Given the description of an element on the screen output the (x, y) to click on. 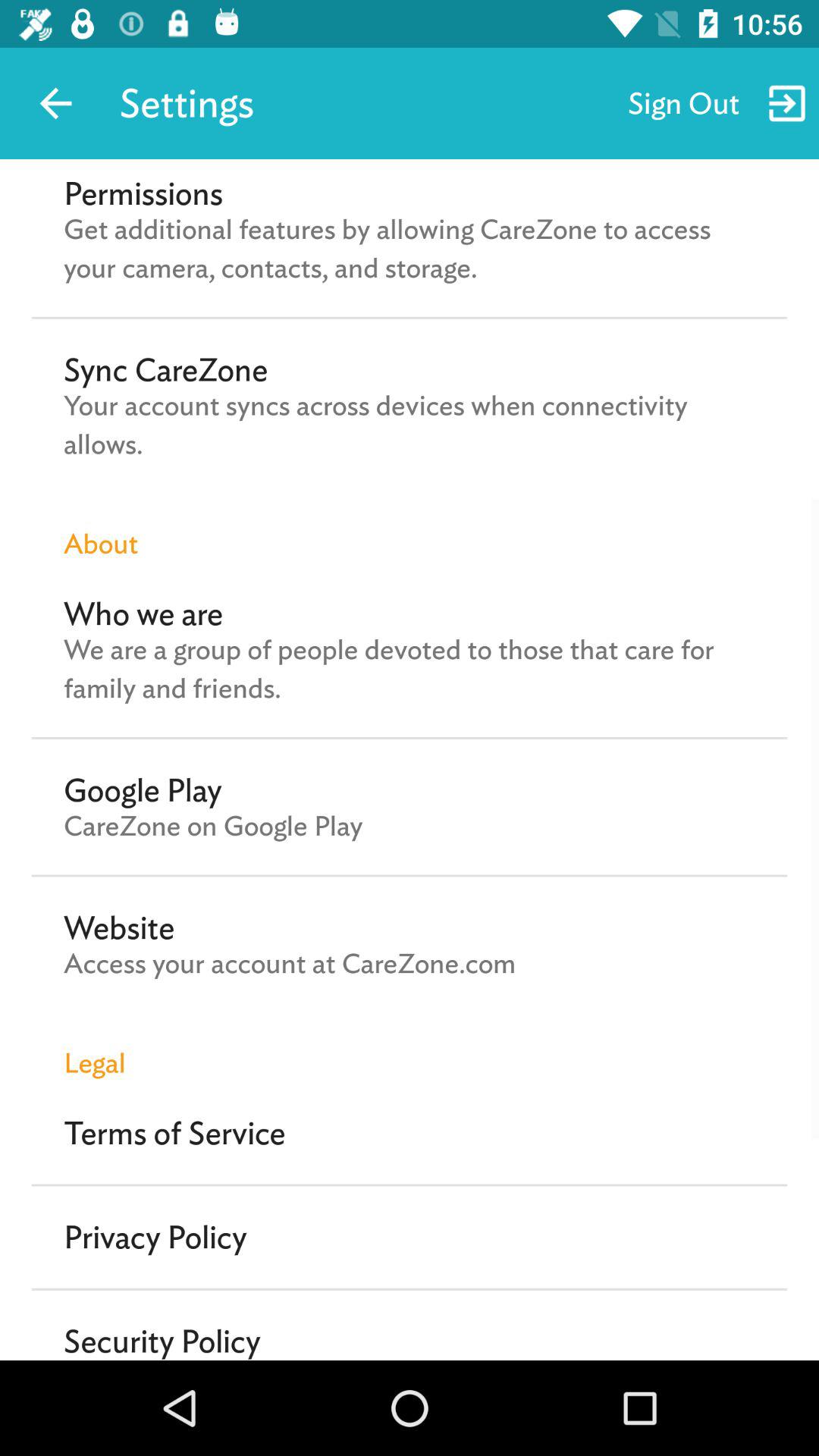
open the item next to settings (55, 103)
